Given the description of an element on the screen output the (x, y) to click on. 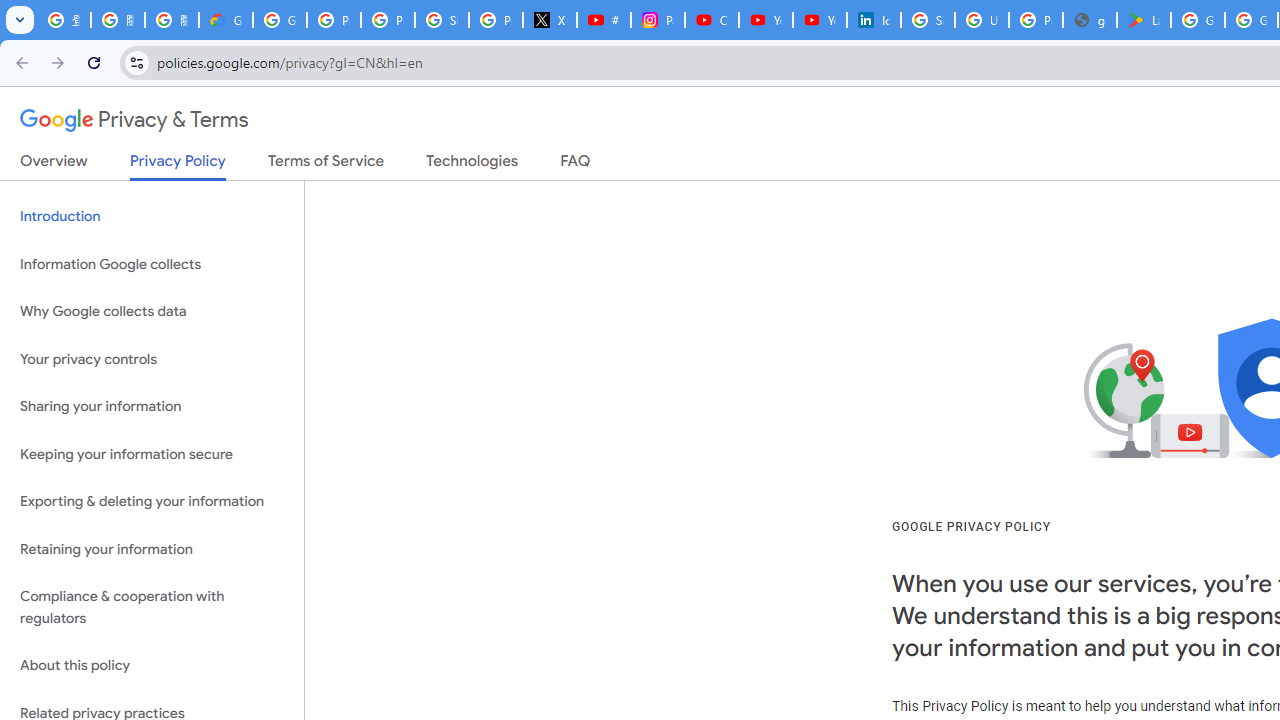
Privacy Help Center - Policies Help (387, 20)
Sign in - Google Accounts (927, 20)
